Given the description of an element on the screen output the (x, y) to click on. 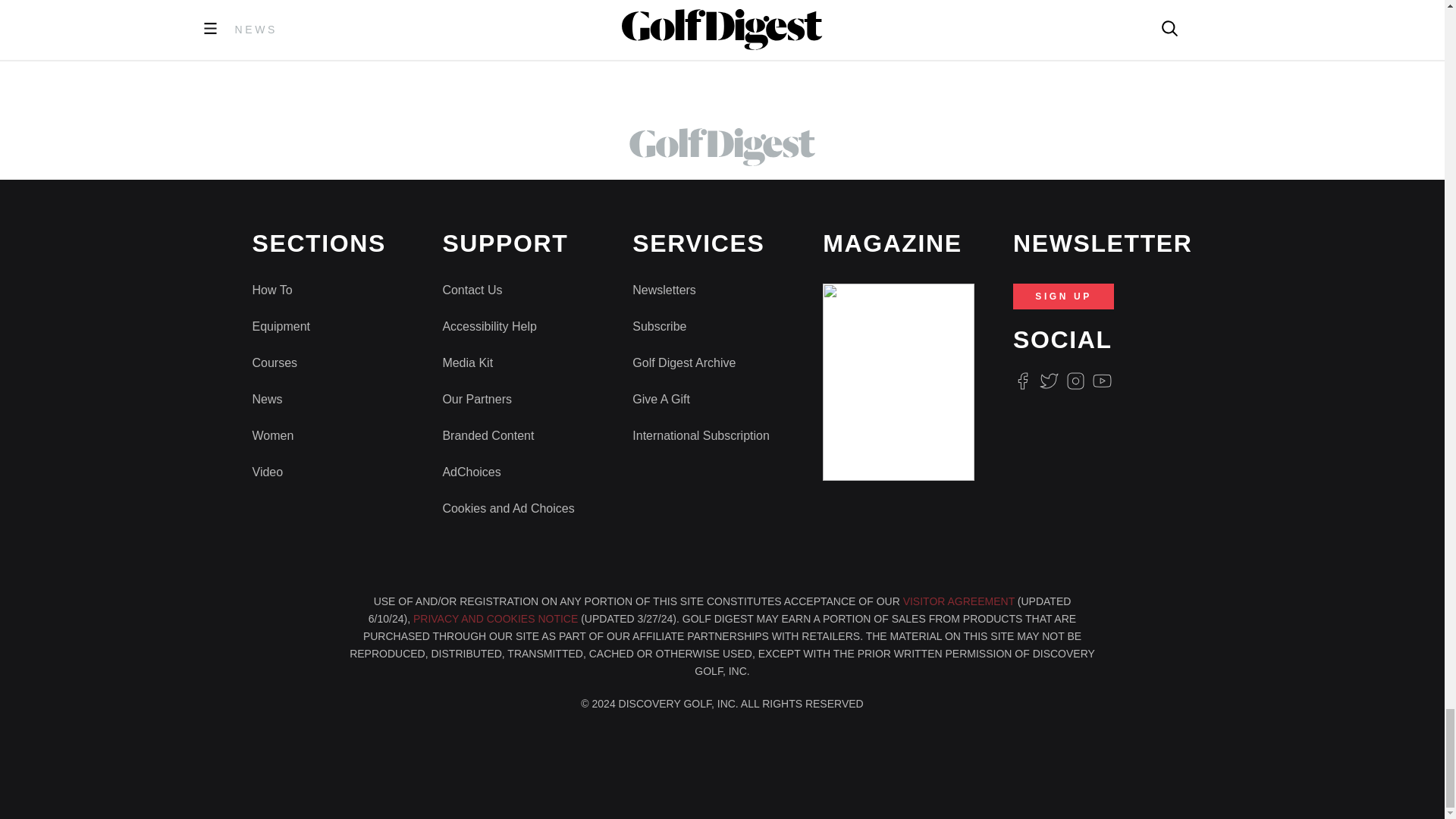
Instagram Logo (1074, 380)
Twitter Logo (1048, 380)
Youtube Icon (1102, 380)
Facebook Logo (1022, 380)
